Given the description of an element on the screen output the (x, y) to click on. 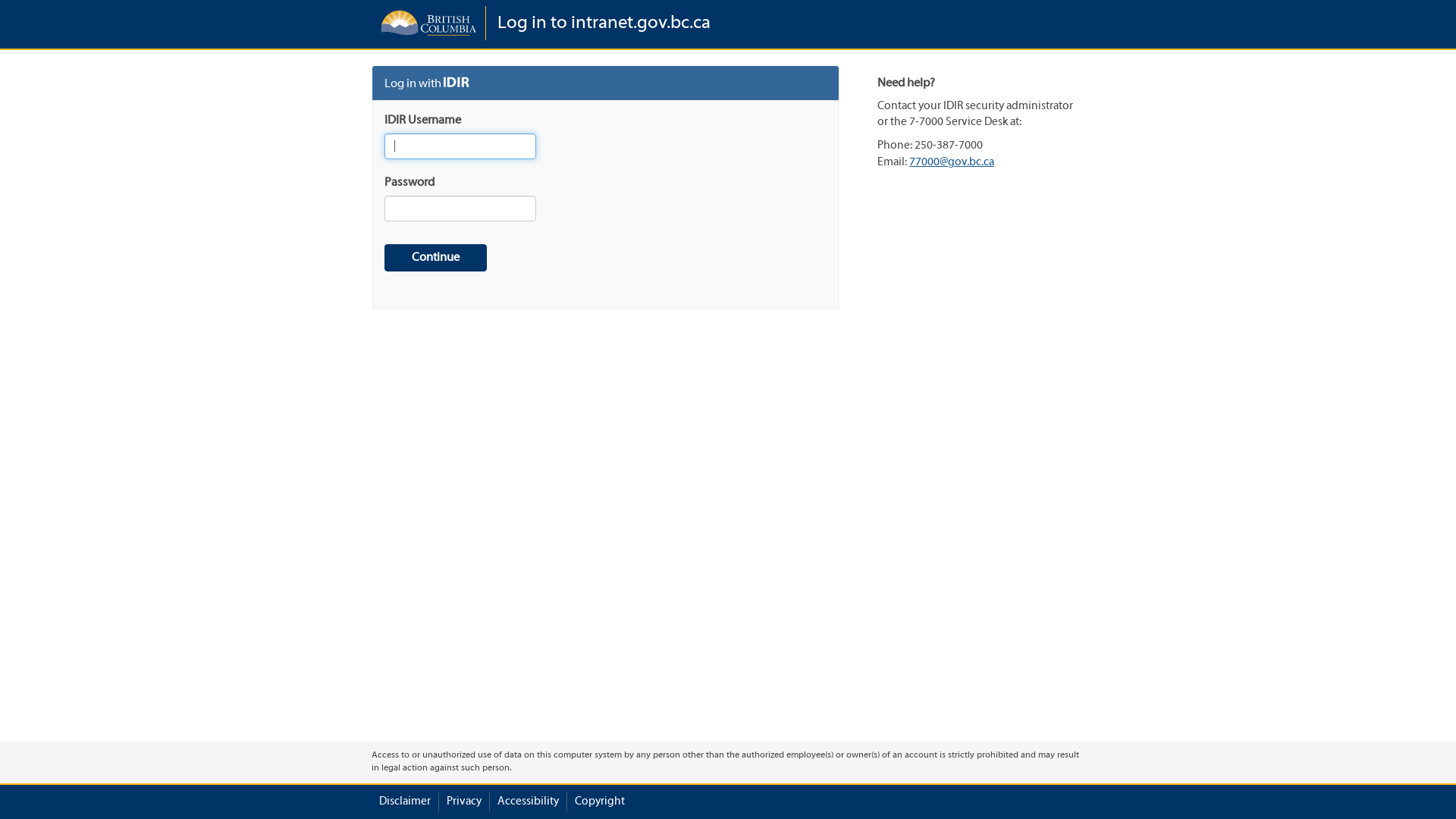
Copyright Element type: text (599, 801)
77000@gov.bc.ca Element type: text (951, 162)
Accessibility Element type: text (527, 801)
Disclaimer Element type: text (404, 801)
Continue Element type: text (435, 258)
Privacy Element type: text (463, 801)
